Given the description of an element on the screen output the (x, y) to click on. 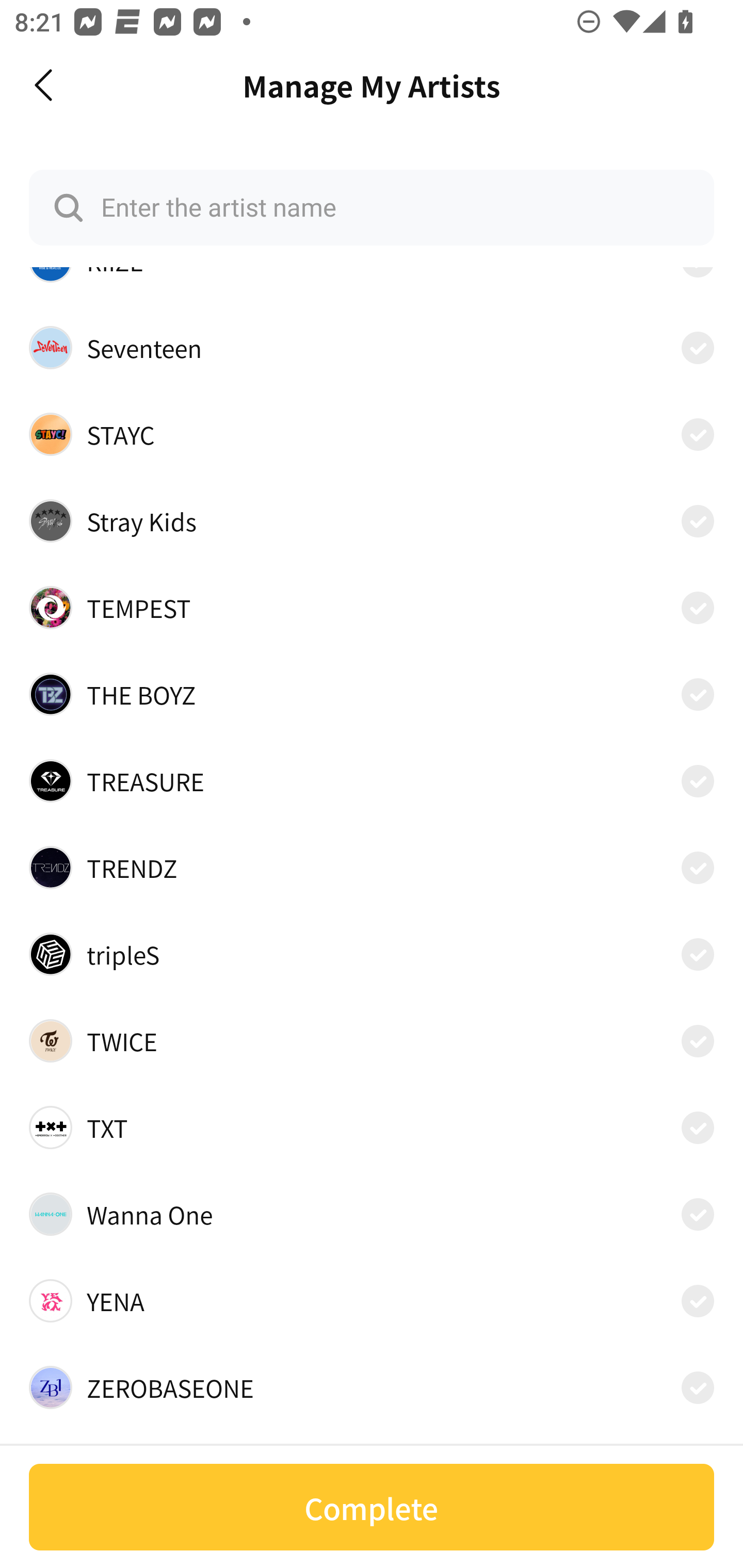
Enter the artist name (371, 207)
Seventeen (371, 348)
STAYC (371, 434)
Stray Kids (371, 520)
TEMPEST (371, 607)
THE BOYZ (371, 694)
TREASURE (371, 780)
TRENDZ (371, 867)
tripleS (371, 953)
TWICE (371, 1041)
TXT (371, 1127)
Wanna One (371, 1214)
YENA (371, 1300)
ZEROBASEONE (371, 1387)
Complete (371, 1507)
